Given the description of an element on the screen output the (x, y) to click on. 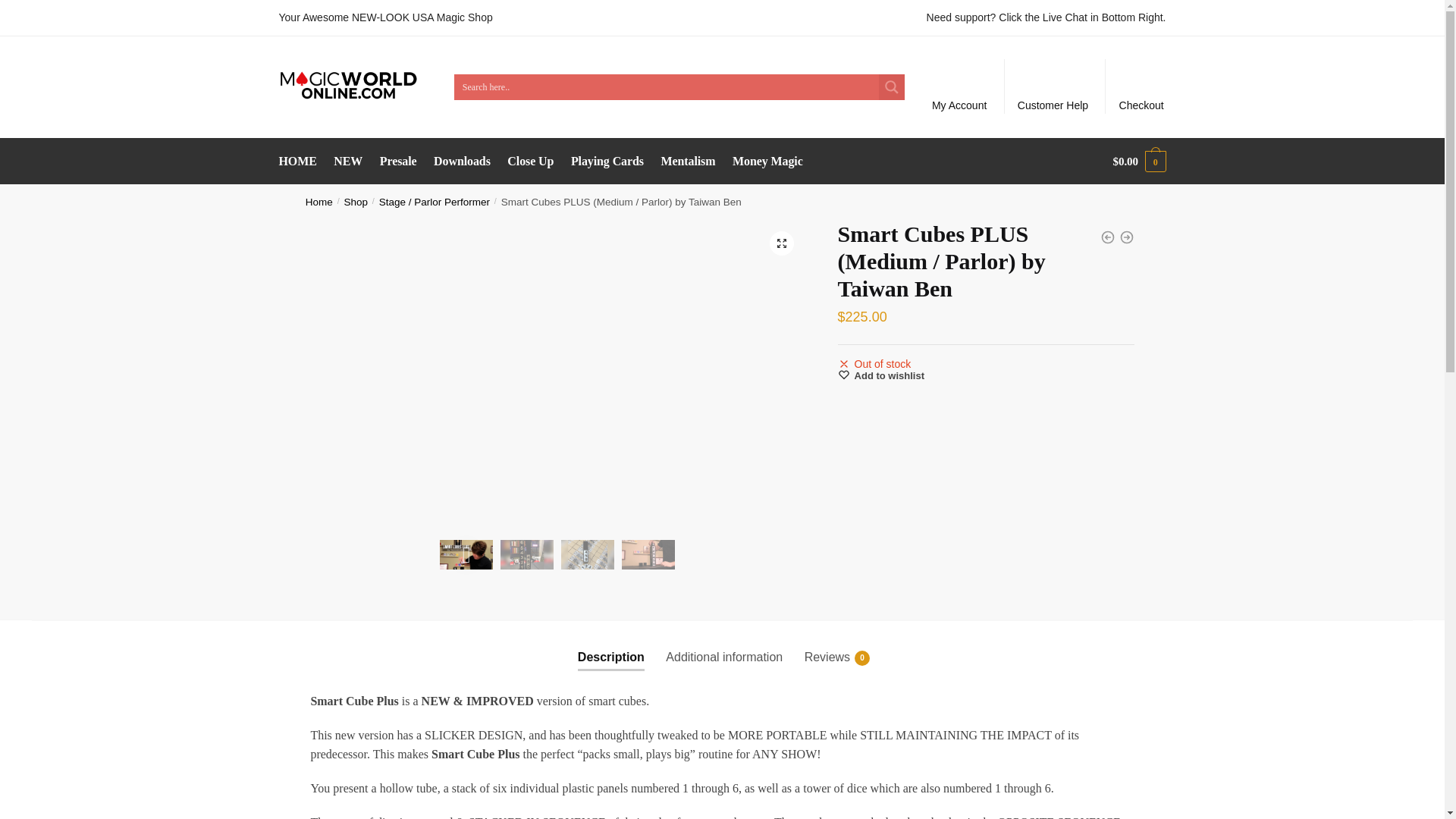
View your shopping cart (1139, 161)
Customer Help (1053, 86)
Shop (355, 202)
Checkout (1141, 86)
Downloads (461, 161)
HOME (301, 161)
Close Up (827, 644)
Money Magic (530, 161)
Home (767, 161)
Add to wishlist (319, 202)
My Account (881, 375)
Mentalism (959, 86)
NEW (687, 161)
Description (348, 161)
